Given the description of an element on the screen output the (x, y) to click on. 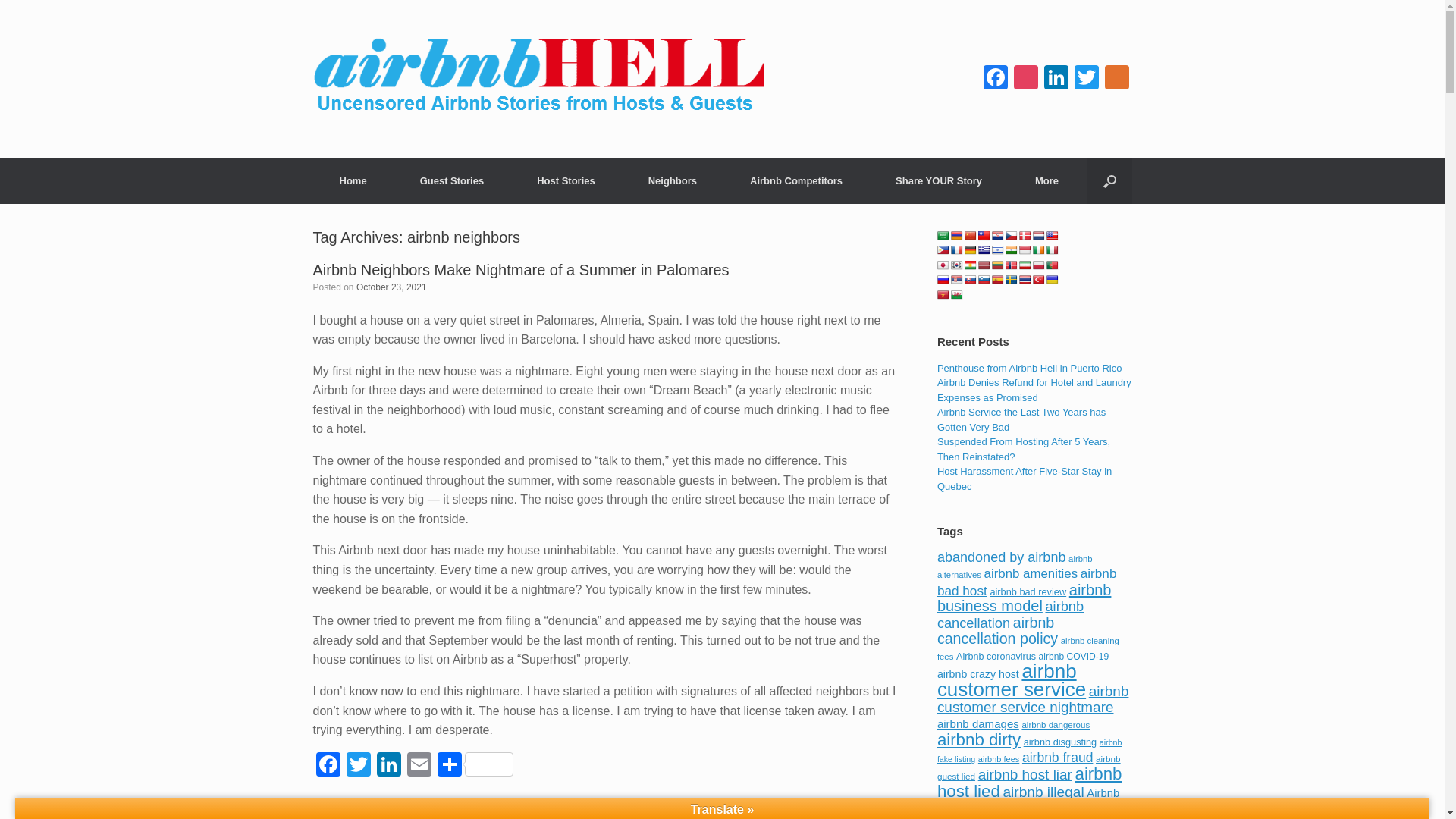
Airbnb Competitors (796, 180)
Instagram (1025, 79)
LinkedIn (387, 766)
Airbnb Neighbors Make Nightmare of a Summer in Palomares (521, 269)
Share YOUR Airbnb Story with the community (939, 180)
RSS Feed (1115, 79)
LinkedIn (1055, 79)
Email (418, 766)
Neighbors (672, 180)
Reasons why you should consider not using the Airbnb service (353, 180)
